Given the description of an element on the screen output the (x, y) to click on. 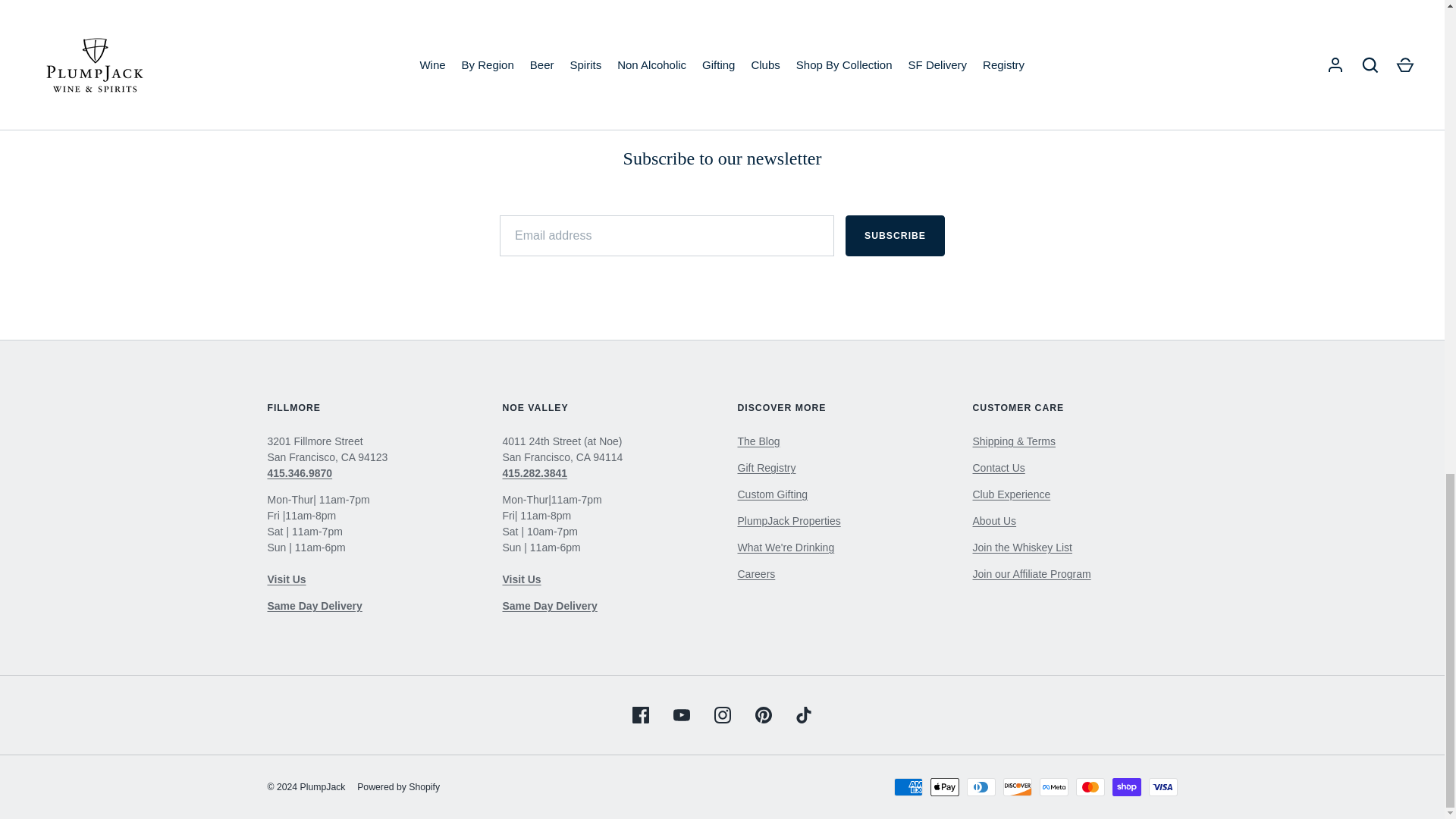
Staff Picks (785, 547)
Club Experience (1010, 494)
Email (722, 117)
Club Corner (757, 440)
Visit us - Noe (521, 579)
Visit Us (998, 467)
Gift Registry (765, 467)
Visit us in the - Marina (285, 579)
About (994, 521)
tel:415.282.3841 (534, 472)
